Given the description of an element on the screen output the (x, y) to click on. 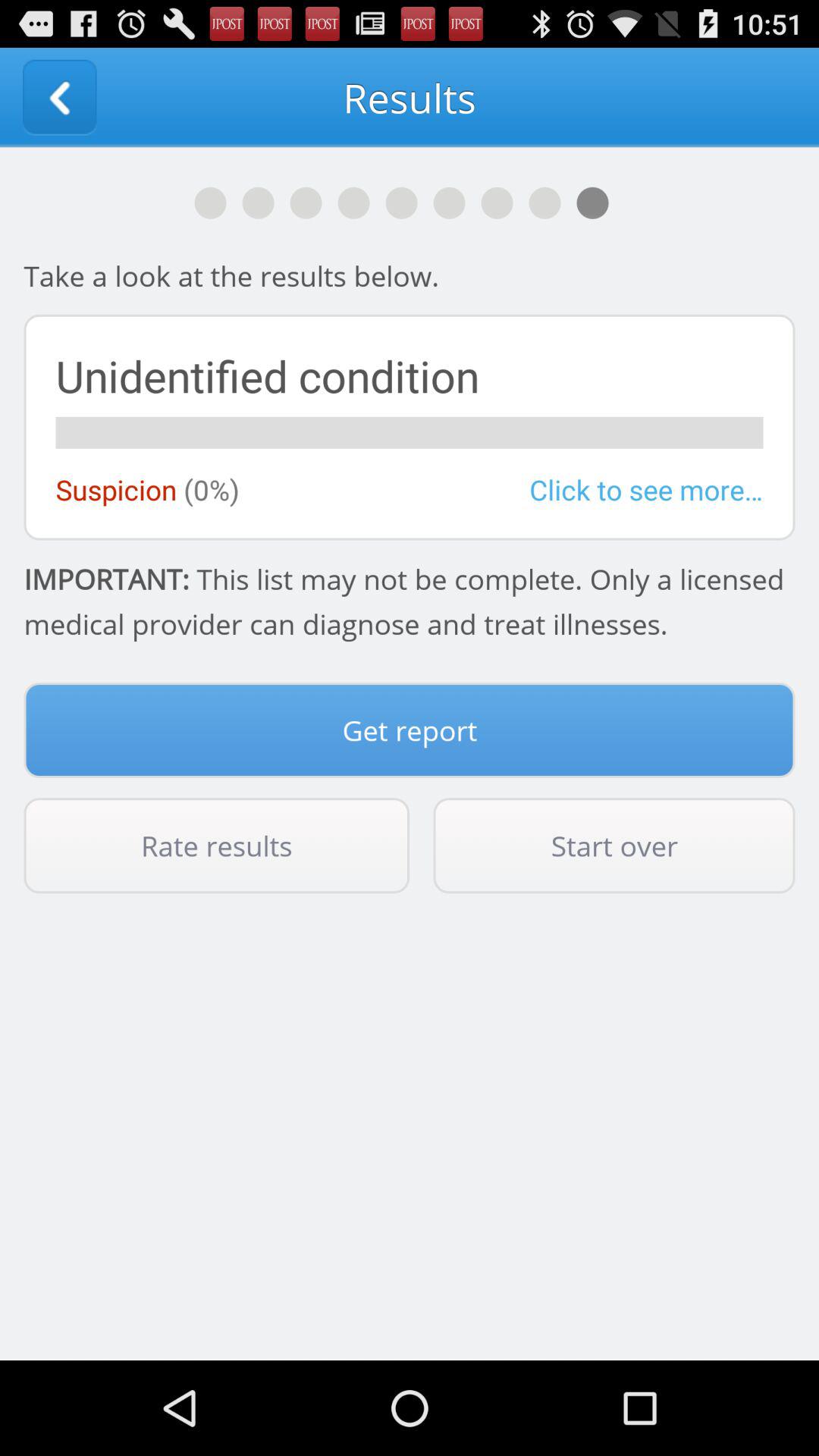
choose icon next to the start over icon (216, 845)
